Given the description of an element on the screen output the (x, y) to click on. 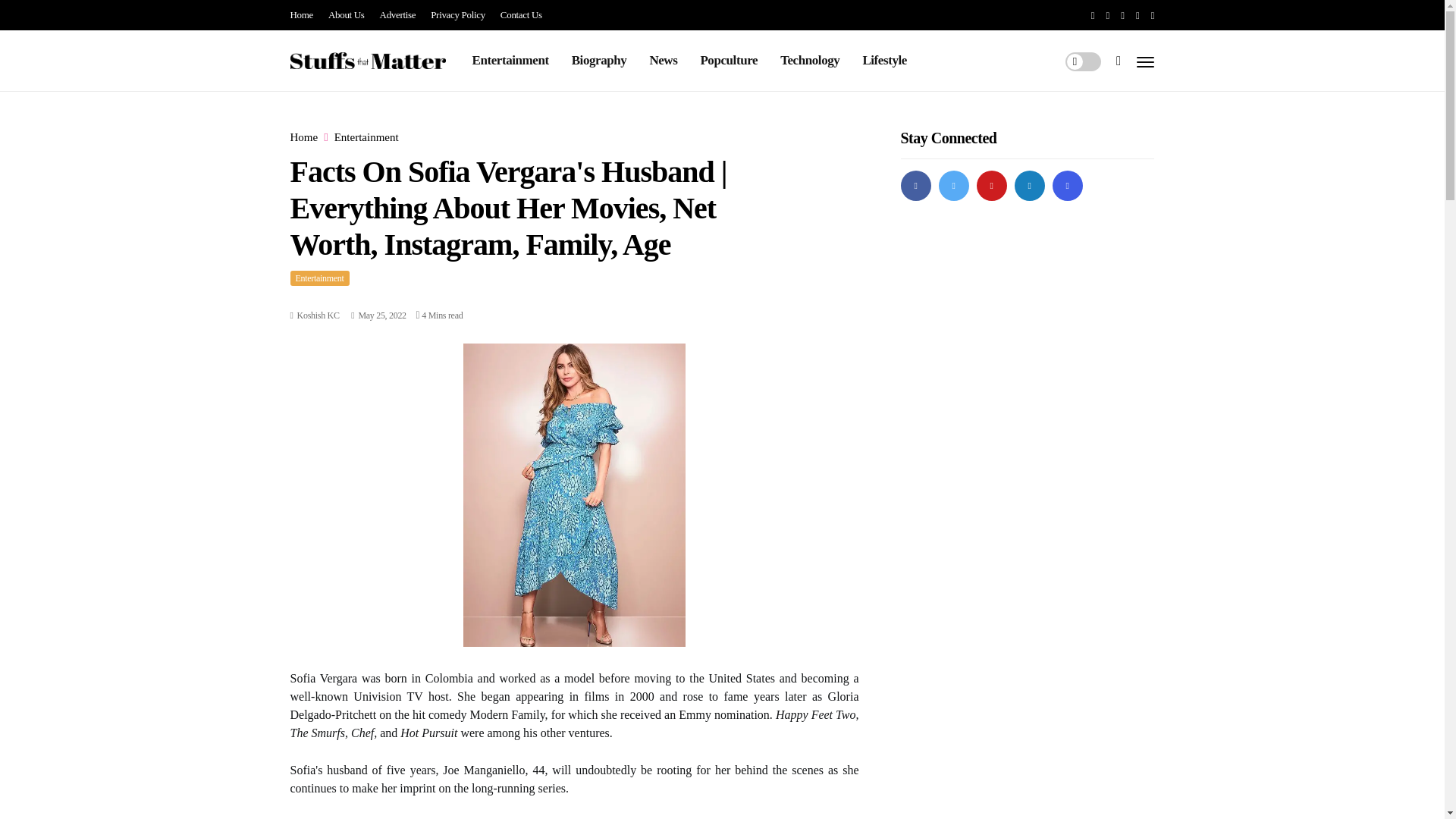
Biography (599, 60)
Entertainment (319, 277)
Privacy Policy (457, 15)
May 25, 2022 04:29 AM (378, 315)
Contact Us (520, 15)
Posts by Koshish KC (318, 315)
Koshish KC (318, 315)
Entertainment (509, 60)
About Us (347, 15)
Home (303, 137)
